Given the description of an element on the screen output the (x, y) to click on. 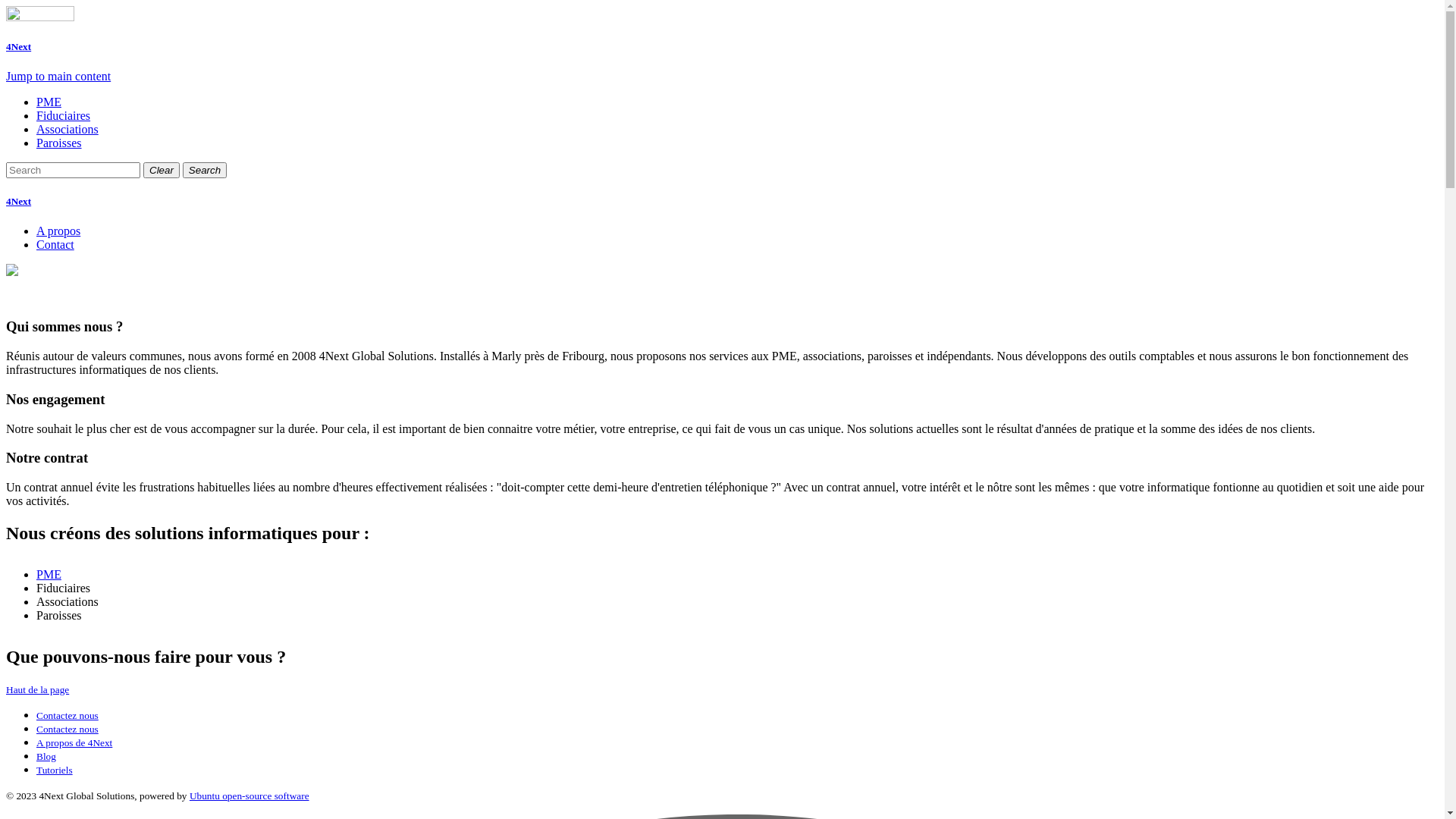
Contactez nous Element type: text (67, 714)
Contactez nous Element type: text (67, 727)
Ubuntu open-source software Element type: text (249, 795)
4Next Element type: text (722, 201)
Blog Element type: text (46, 755)
Fiduciaires Element type: text (63, 115)
Jump to main content Element type: text (58, 75)
4Next Element type: text (18, 46)
A propos de 4Next Element type: text (74, 741)
PME Element type: text (48, 101)
Associations Element type: text (67, 128)
Clear Element type: text (161, 170)
Haut de la page Element type: text (37, 688)
Contact Element type: text (55, 244)
Tutoriels Element type: text (54, 768)
PME Element type: text (48, 573)
Paroisses Element type: text (58, 142)
Search Element type: text (204, 170)
A propos Element type: text (58, 230)
